Given the description of an element on the screen output the (x, y) to click on. 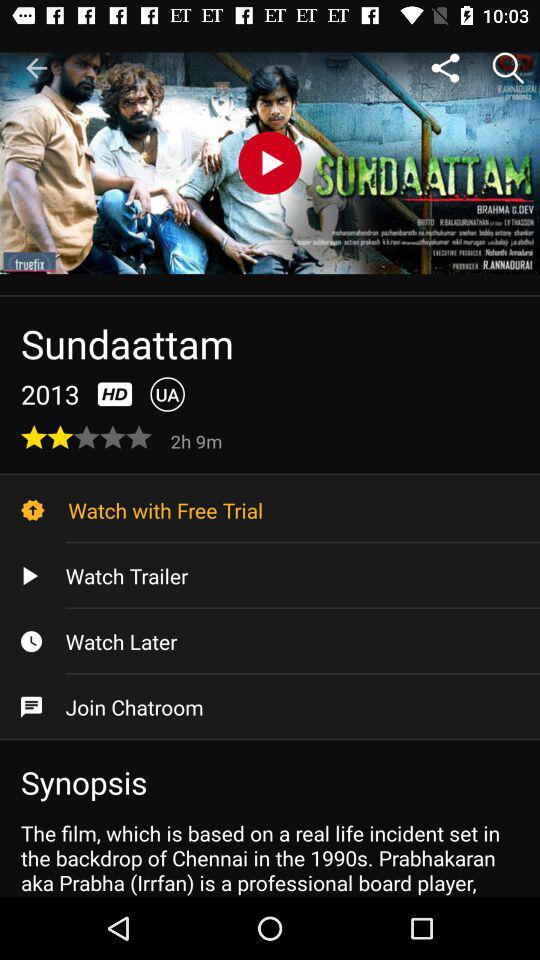
tap item above watch later icon (270, 575)
